Given the description of an element on the screen output the (x, y) to click on. 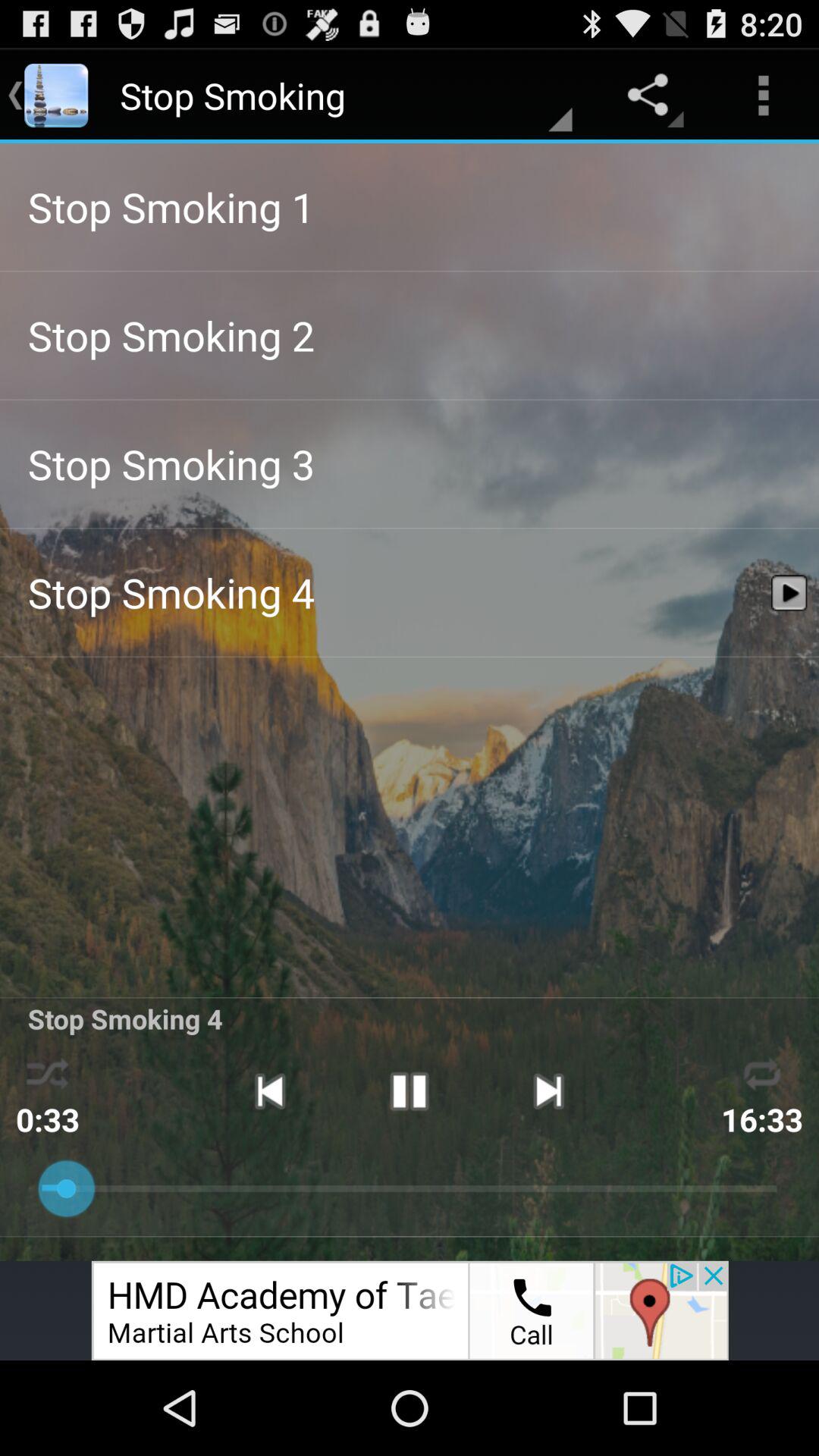
martial arts school advertisement (409, 1310)
